Given the description of an element on the screen output the (x, y) to click on. 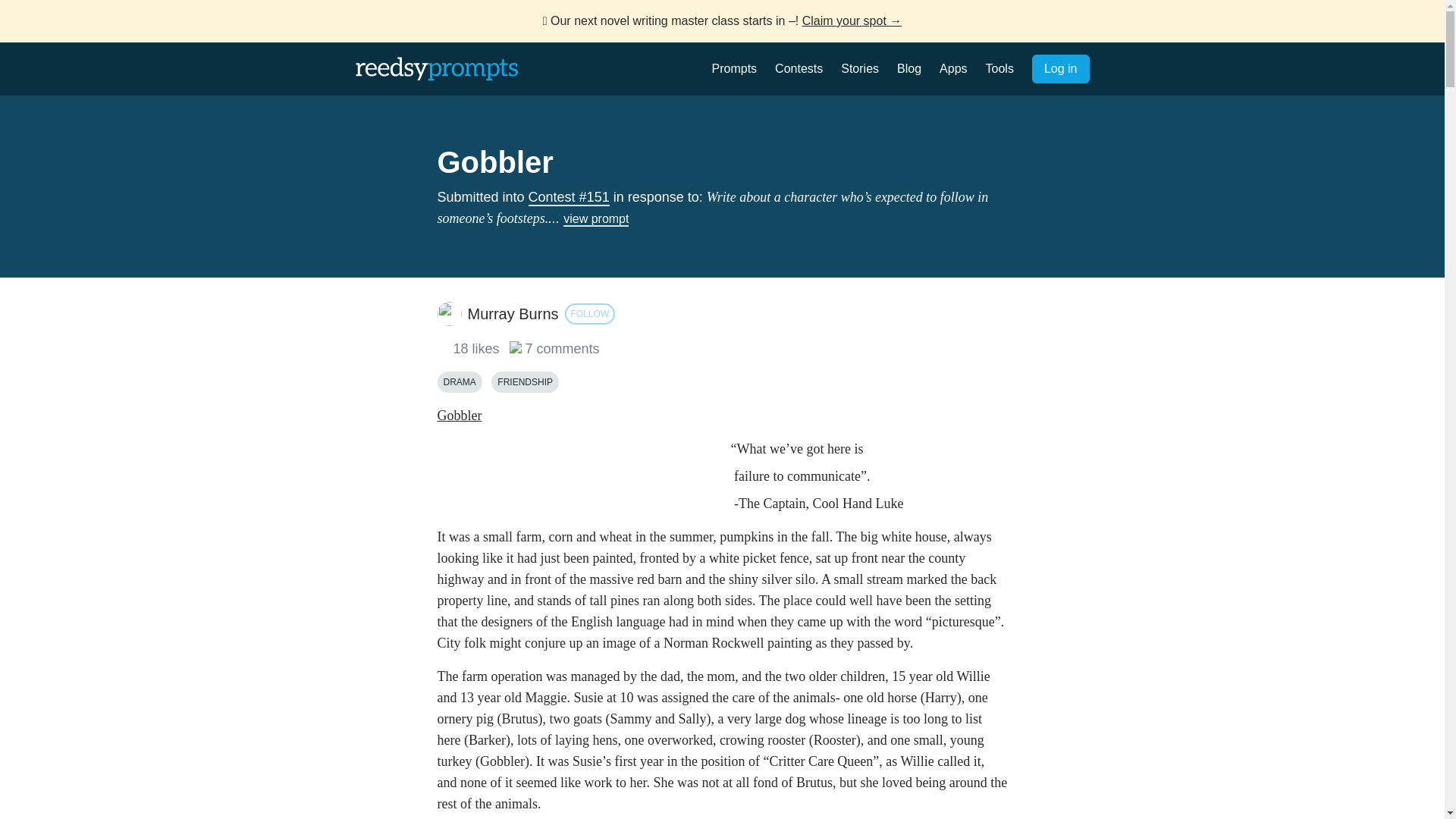
7 comments (554, 348)
Blog (908, 68)
Tools (999, 68)
Apps (952, 68)
Contests (798, 68)
Log in (1060, 68)
Prompts (734, 68)
Stories (860, 68)
